Given the description of an element on the screen output the (x, y) to click on. 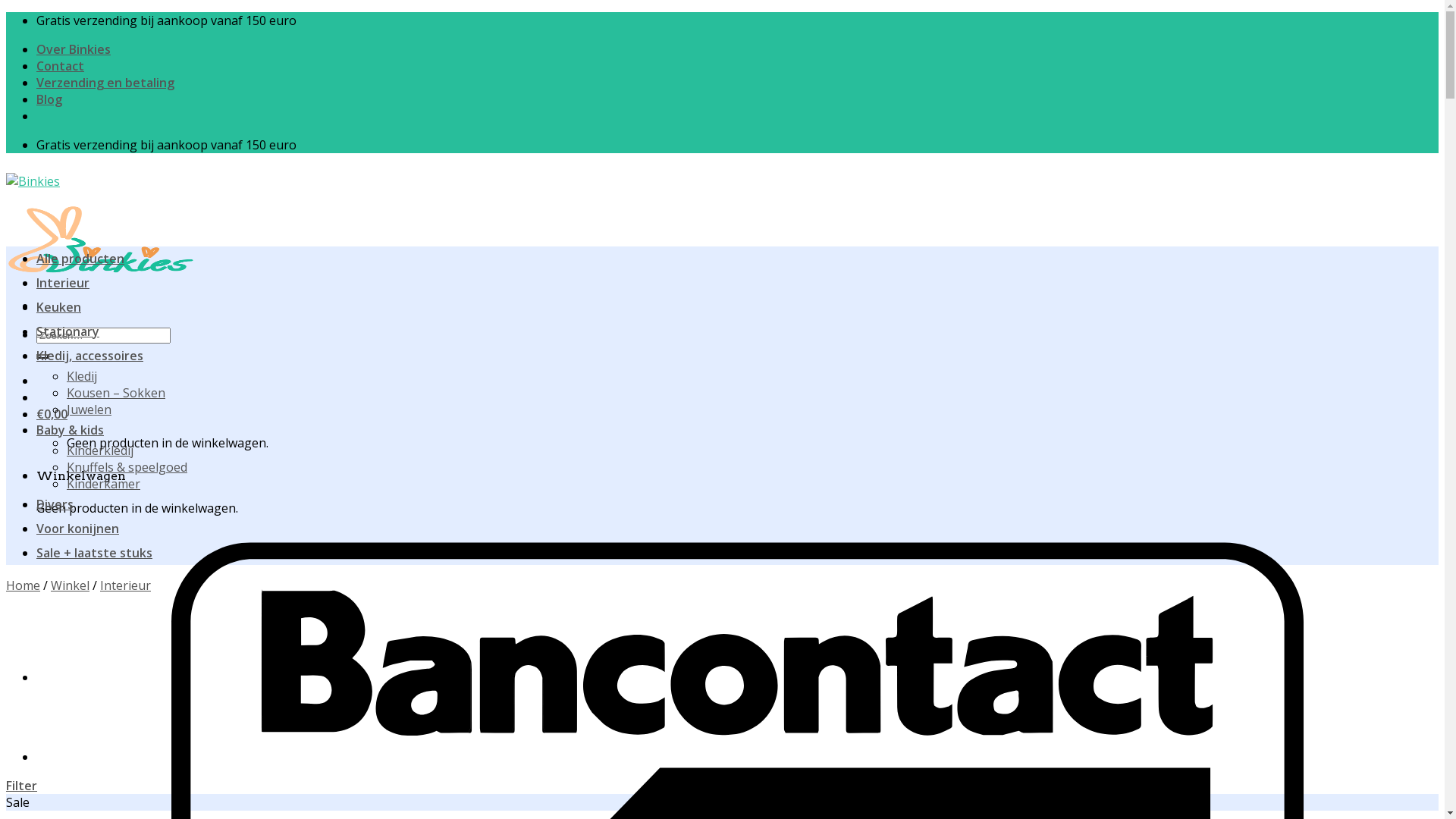
Binkies Element type: hover (100, 228)
Kinderkledij Element type: text (97, 417)
Interieur Element type: text (60, 260)
Winkel Element type: text (66, 543)
Contact Element type: text (58, 57)
Kledij, accessoires Element type: text (90, 333)
Kledij Element type: text (81, 352)
Kinderkamer Element type: text (100, 445)
Stationary Element type: text (65, 309)
Knuffels & speelgoed Element type: text (123, 431)
Keuken Element type: text (58, 285)
Over Binkies Element type: text (73, 43)
Zoeken Element type: text (42, 324)
Baby & kids Element type: text (71, 398)
Interieur Element type: text (116, 543)
Verzending en betaling Element type: text (102, 71)
Aan verlanglijst toevoegen Element type: text (77, 780)
Juwelen Element type: text (88, 379)
Divers Element type: text (54, 464)
Alle producten Element type: text (78, 236)
Sale + laatste stuks Element type: text (92, 512)
Filter Element type: text (20, 739)
Voor konijnen Element type: text (76, 488)
Skip to content Element type: text (5, 11)
Home Element type: text (22, 543)
Klok konijn goud Element type: hover (74, 676)
Blog Element type: text (49, 84)
